Given the description of an element on the screen output the (x, y) to click on. 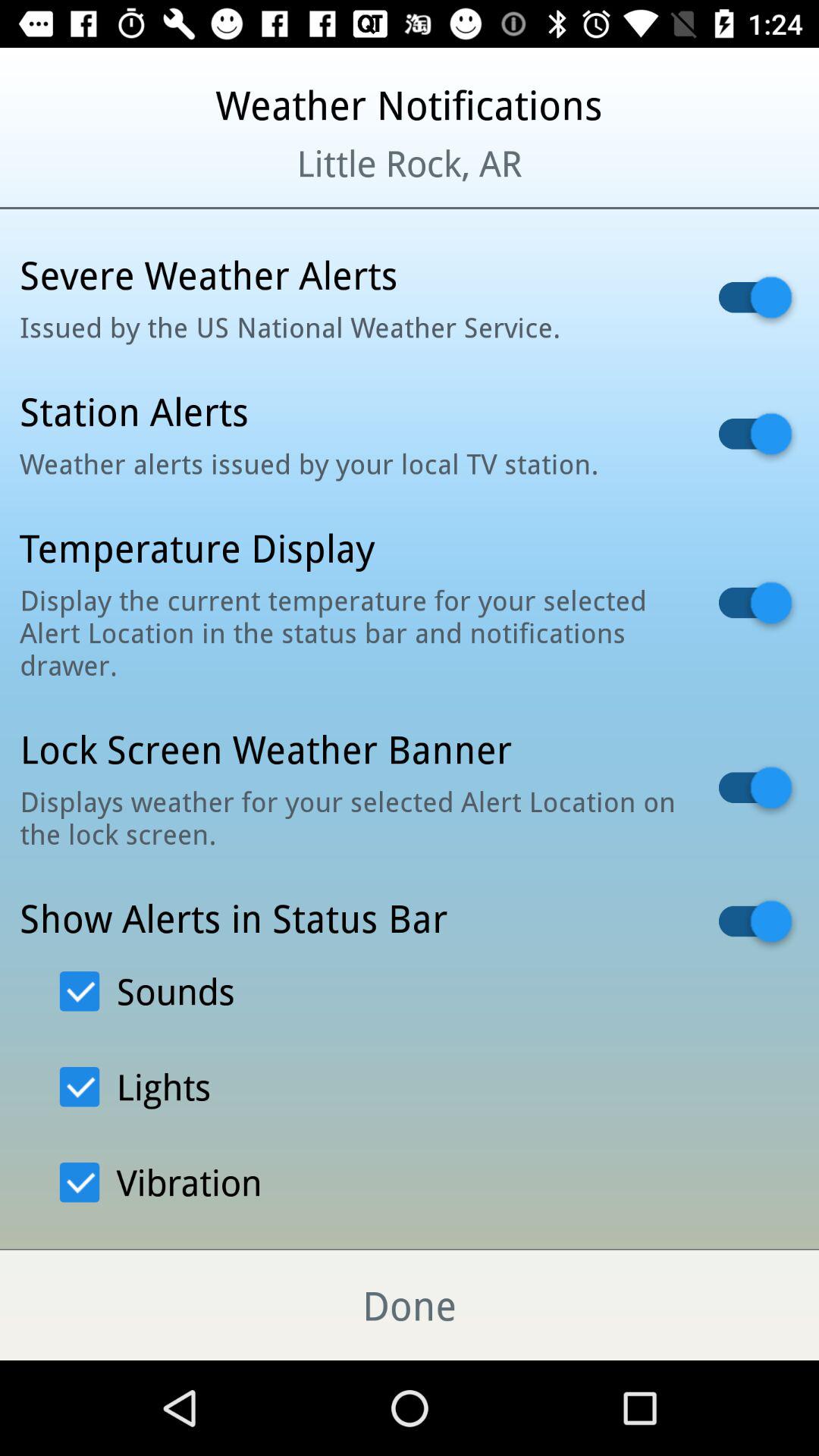
swipe until the displays weather for icon (349, 817)
